Given the description of an element on the screen output the (x, y) to click on. 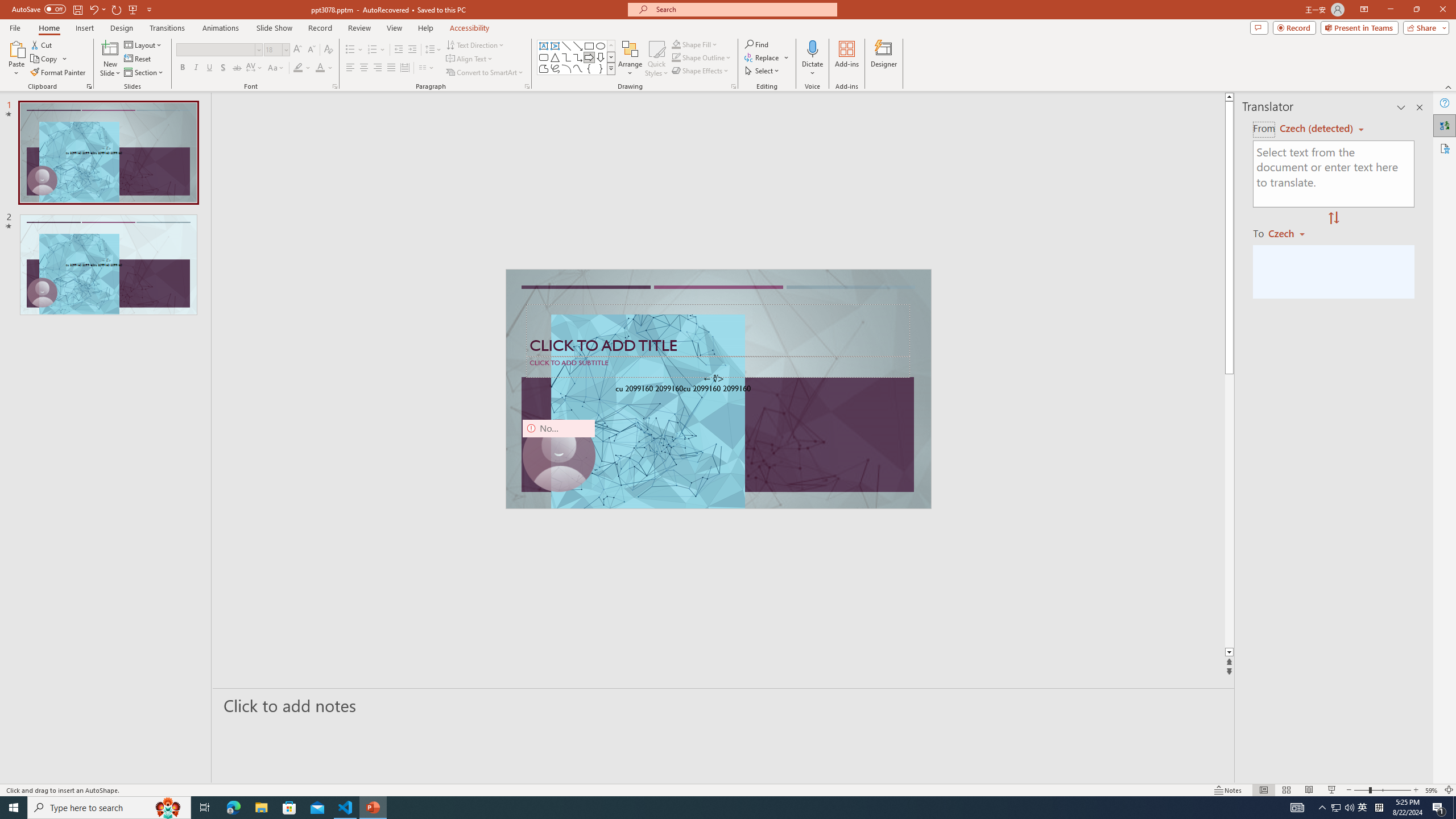
Camera 9, No camera detected. (558, 455)
